Given the description of an element on the screen output the (x, y) to click on. 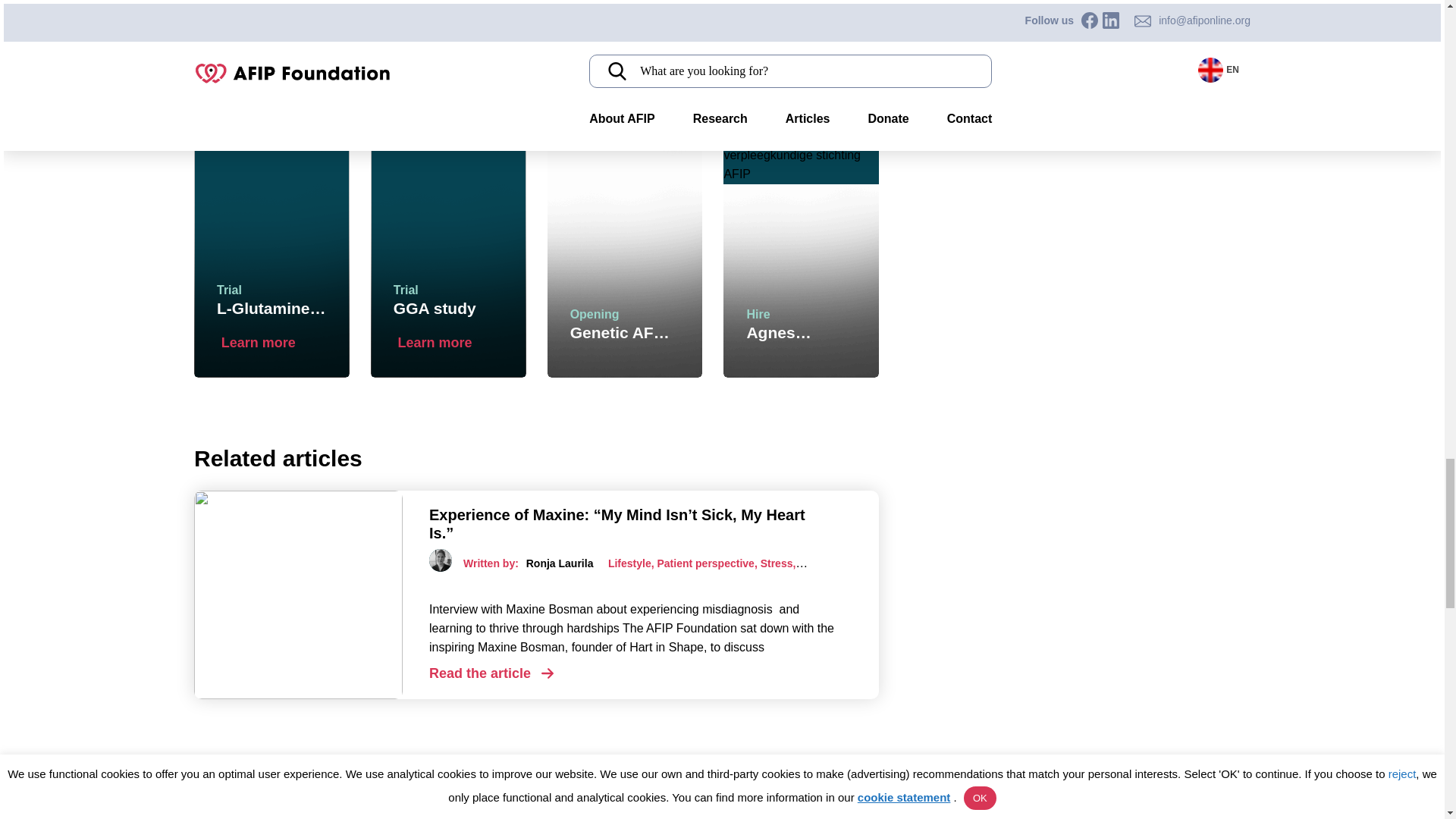
Share Facebook (262, 52)
Share LinkedIn (556, 52)
Share social Atrial fibrillation and stress via Facebook (262, 52)
L-Glutamine and its role in atrial fibrillation (450, 342)
Share Twitter (411, 52)
Man in Lab (583, 136)
L-Glutamine and its role in atrial fibrillation (273, 342)
agnes zoom in (801, 155)
Stress (776, 563)
Learn more (273, 342)
